Given the description of an element on the screen output the (x, y) to click on. 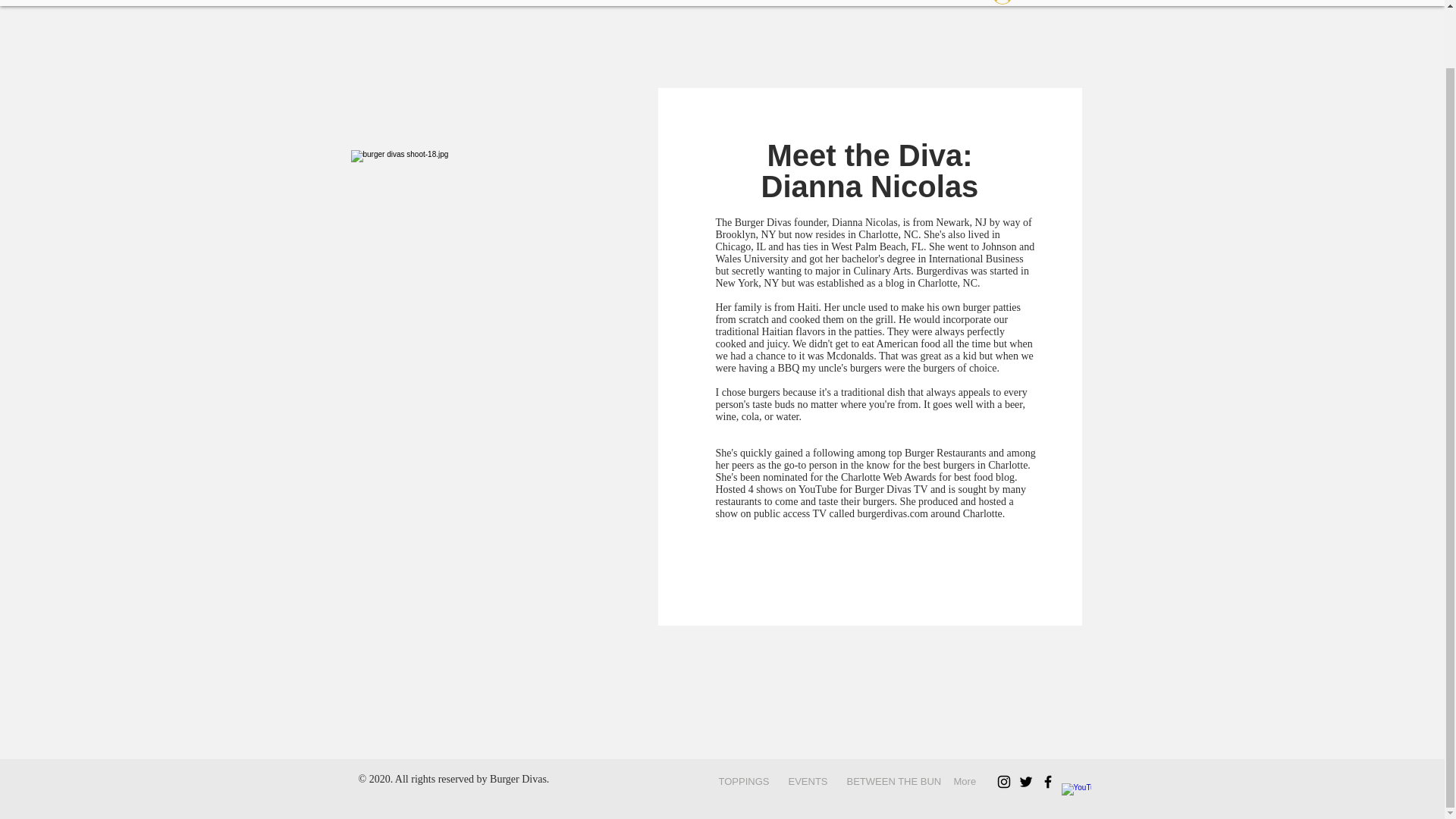
EVENTS (805, 781)
BETWEEN THE BUN (888, 781)
Log In (1021, 4)
